Given the description of an element on the screen output the (x, y) to click on. 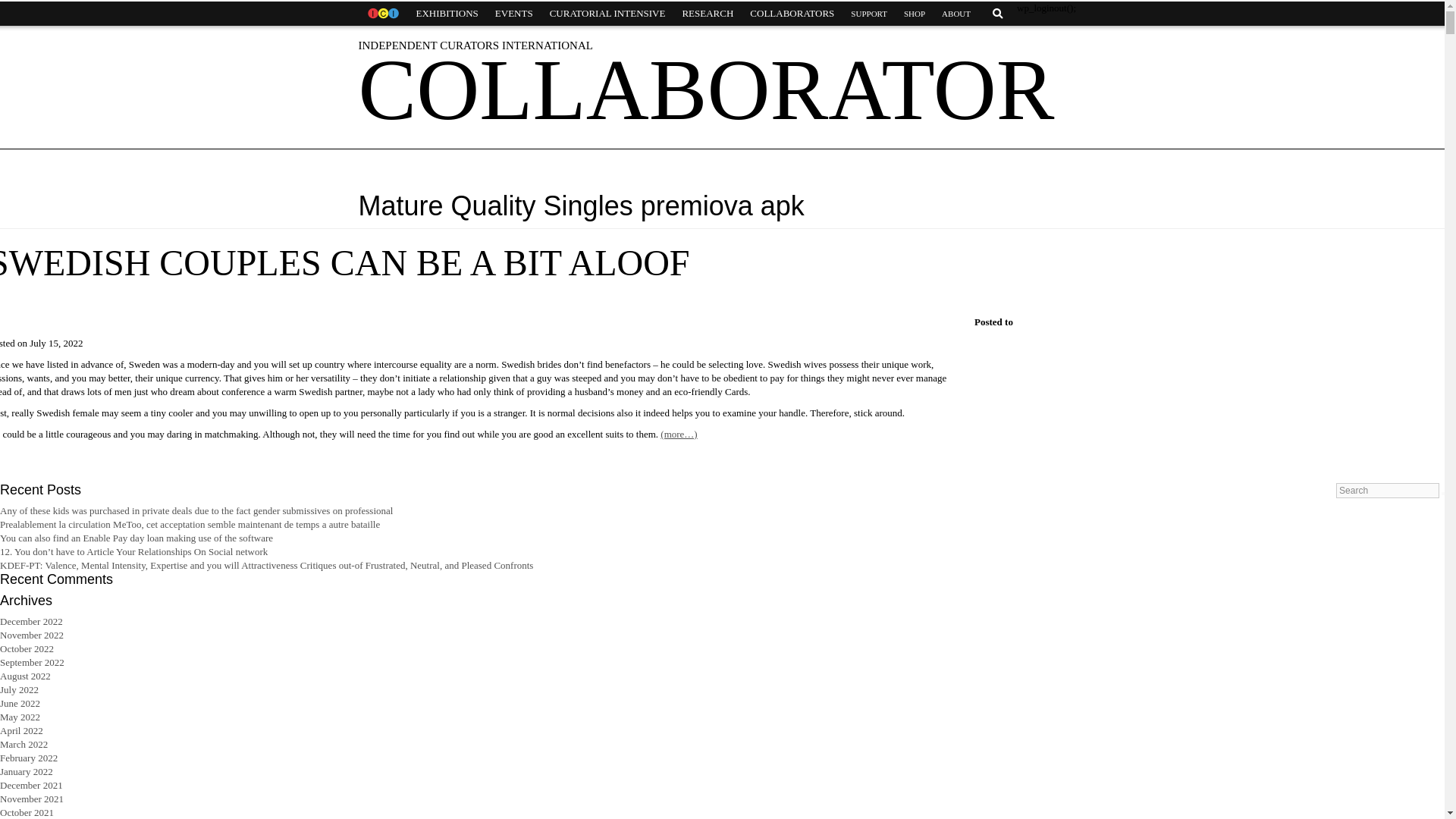
RESEARCH (706, 13)
HOME (382, 13)
CURATORIAL INTENSIVE (607, 13)
EVENTS (513, 13)
EXHIBITIONS (446, 13)
COLLABORATORS (792, 13)
